Given the description of an element on the screen output the (x, y) to click on. 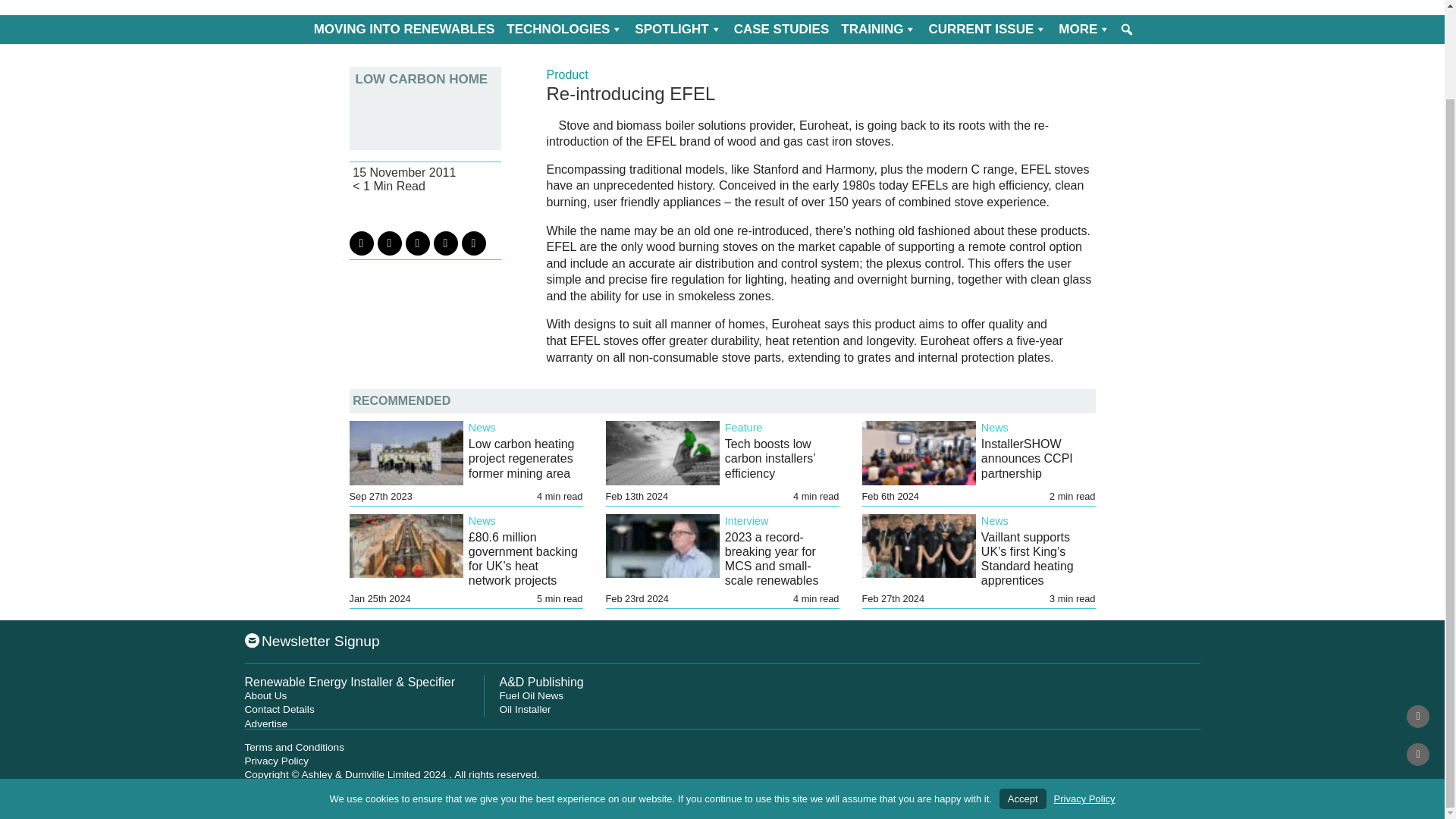
InstallerSHOW announces CCPI partnership (1027, 458)
InstallerSHOW announces CCPI partnership (1027, 458)
Share on Email (445, 242)
CURRENT ISSUE (986, 29)
LOW CARBON HOME (424, 79)
SPOTLIGHT (677, 29)
MORE (1084, 29)
Share on WhatsApp (472, 242)
